Given the description of an element on the screen output the (x, y) to click on. 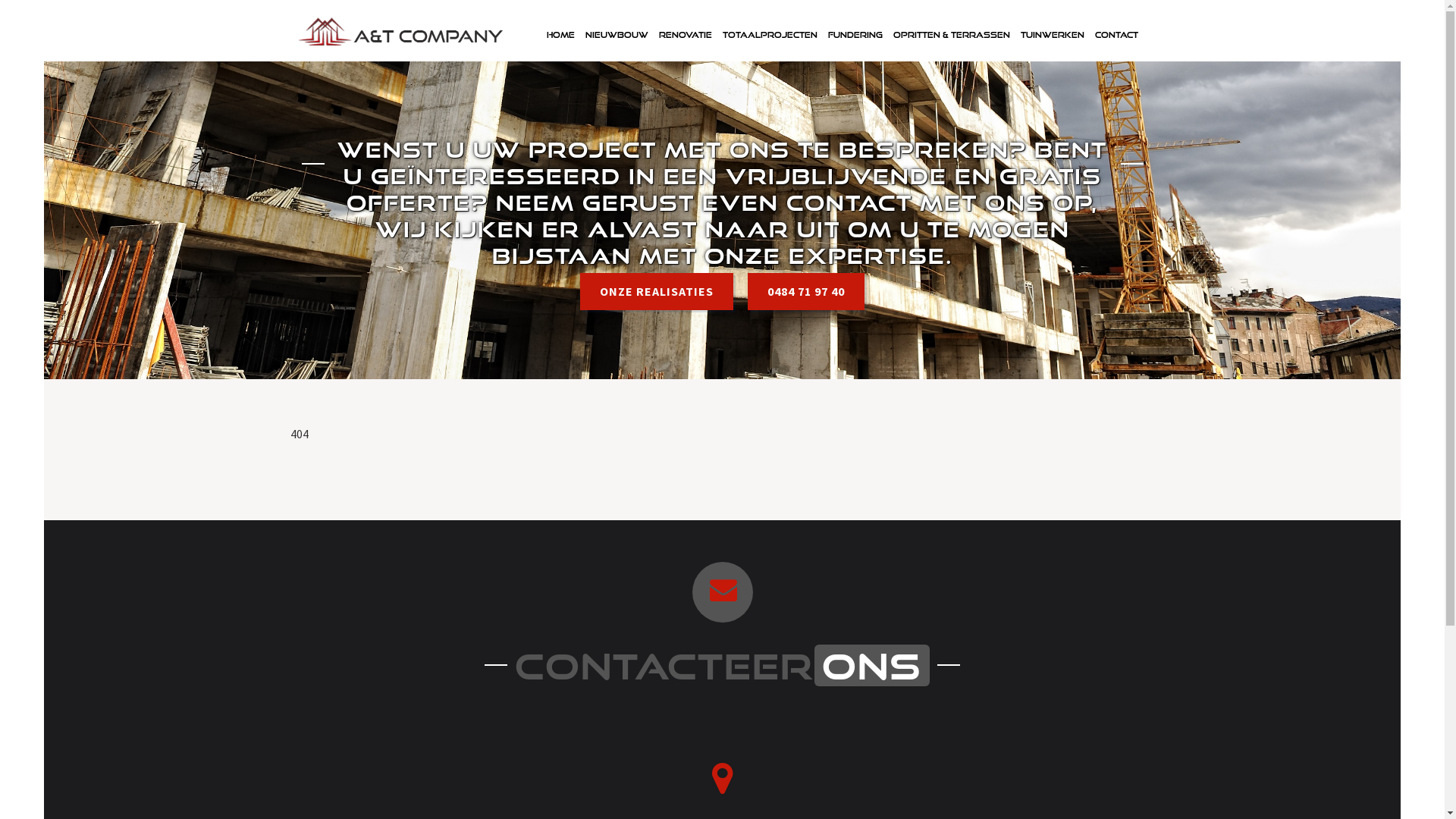
ONZE REALISATIES Element type: text (656, 291)
TUINWERKEN Element type: text (1051, 34)
ONS Element type: text (871, 665)
0484 71 97 40 Element type: text (805, 291)
TOTAALPROJECTEN Element type: text (769, 34)
OPRITTEN & TERRASSEN Element type: text (950, 34)
FUNDERING Element type: text (854, 34)
NIEUWBOUW Element type: text (615, 34)
RENOVATIE Element type: text (685, 34)
CONTACT Element type: text (1115, 34)
HOME Element type: text (560, 34)
